Given the description of an element on the screen output the (x, y) to click on. 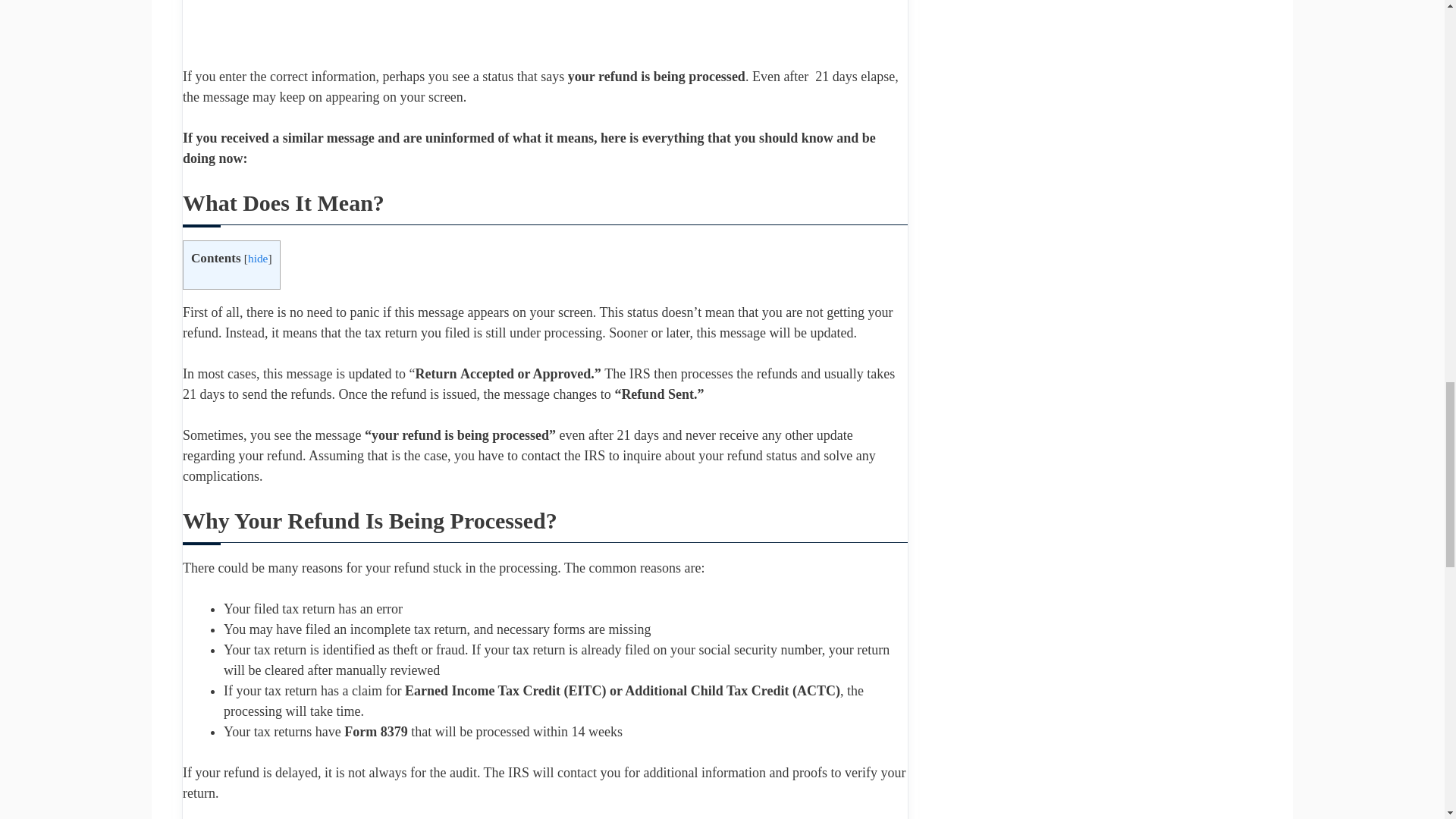
hide (257, 257)
